Given the description of an element on the screen output the (x, y) to click on. 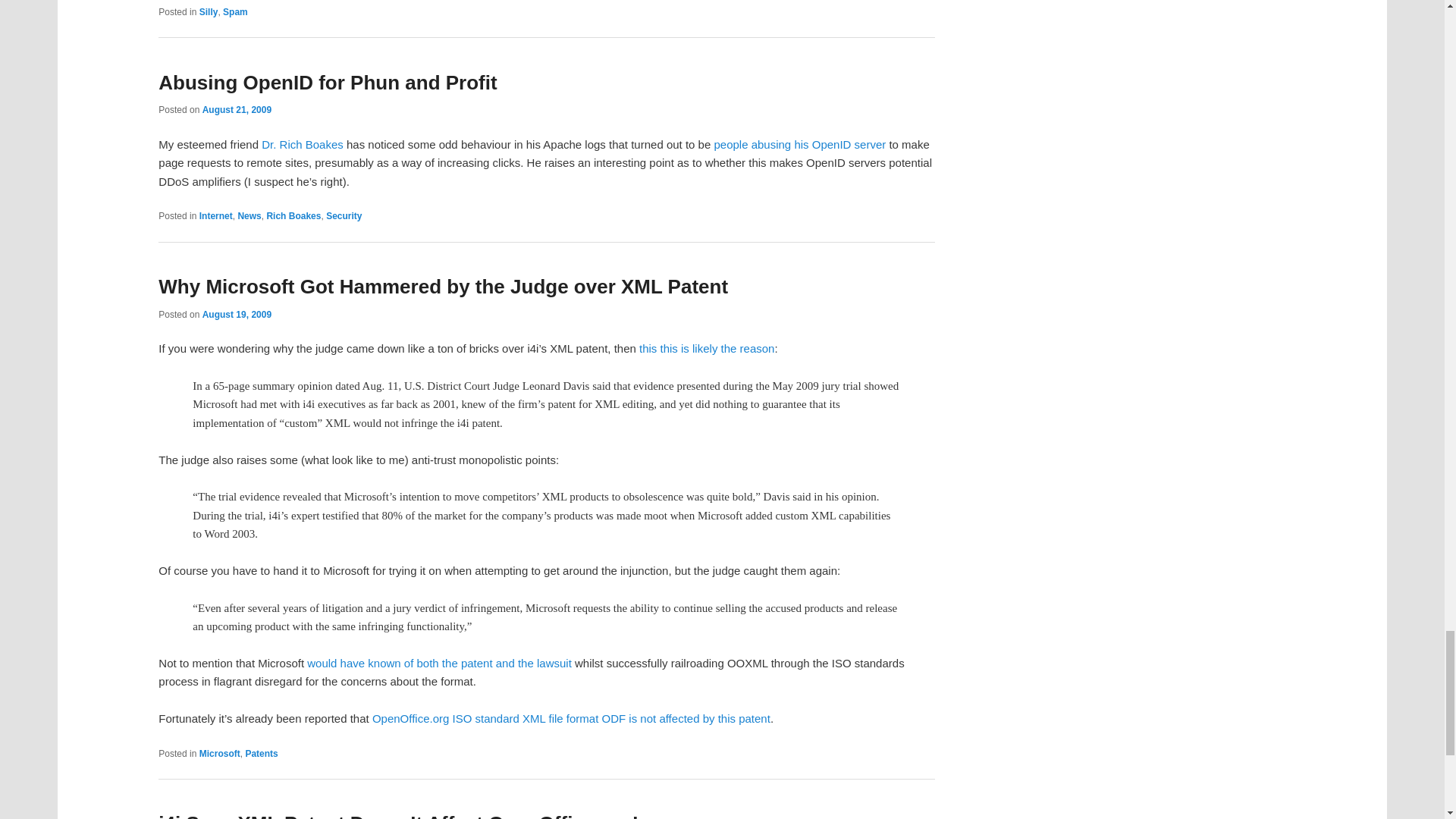
11:26 pm (236, 314)
6:16 pm (236, 109)
